Given the description of an element on the screen output the (x, y) to click on. 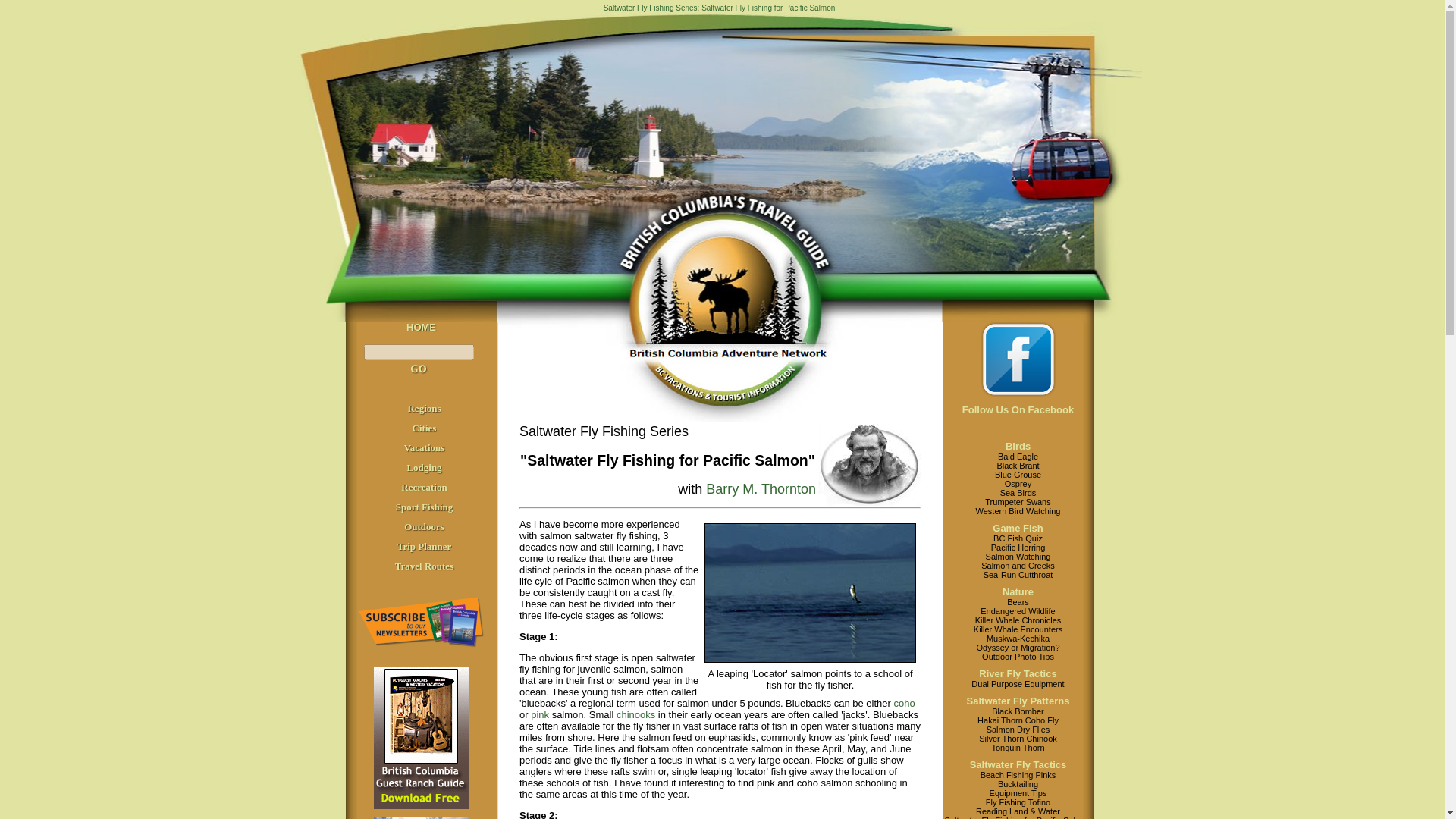
Regions (424, 408)
Search (418, 369)
Lodging (423, 467)
HOME (420, 326)
Recreation (423, 487)
Vacations (424, 447)
Cities (424, 428)
